Given the description of an element on the screen output the (x, y) to click on. 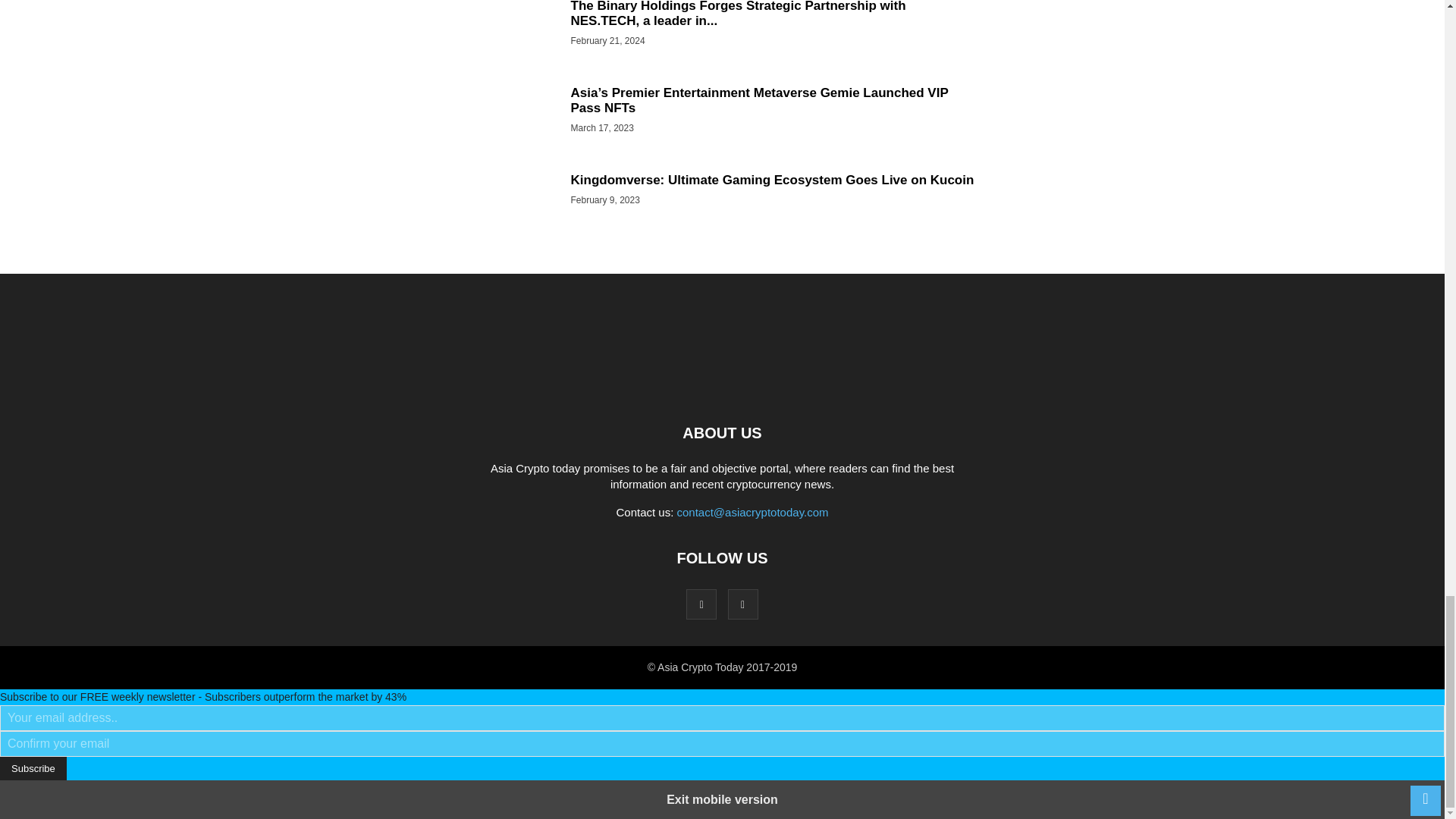
Subscribe (33, 768)
Kingdomverse: Ultimate Gaming Ecosystem Goes Live on Kucoin (772, 179)
